Given the description of an element on the screen output the (x, y) to click on. 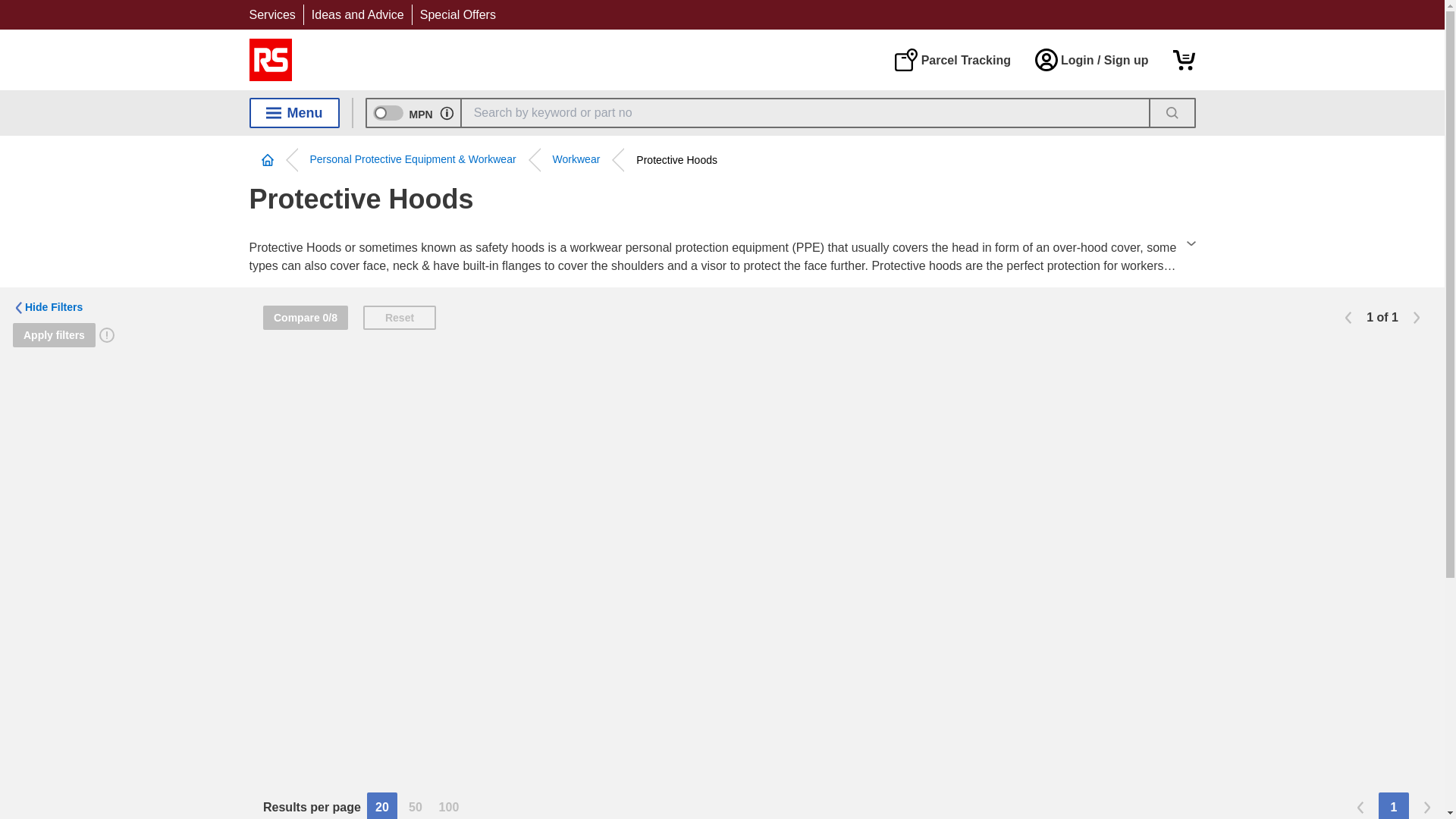
Services (271, 14)
Special Offers (458, 14)
Menu (293, 112)
Parcel Tracking (951, 59)
Ideas and Advice (357, 14)
